Given the description of an element on the screen output the (x, y) to click on. 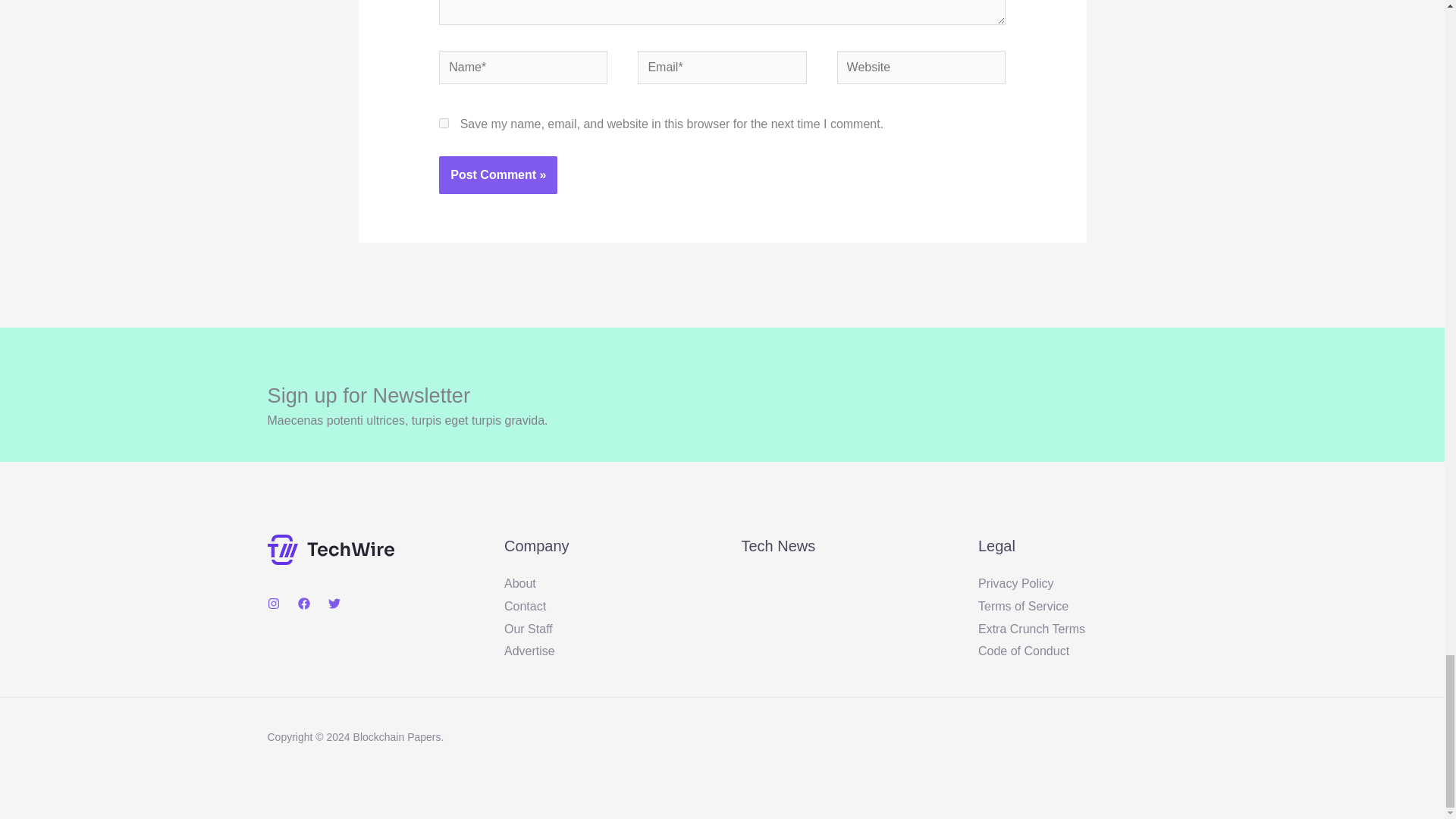
yes (443, 122)
